Given the description of an element on the screen output the (x, y) to click on. 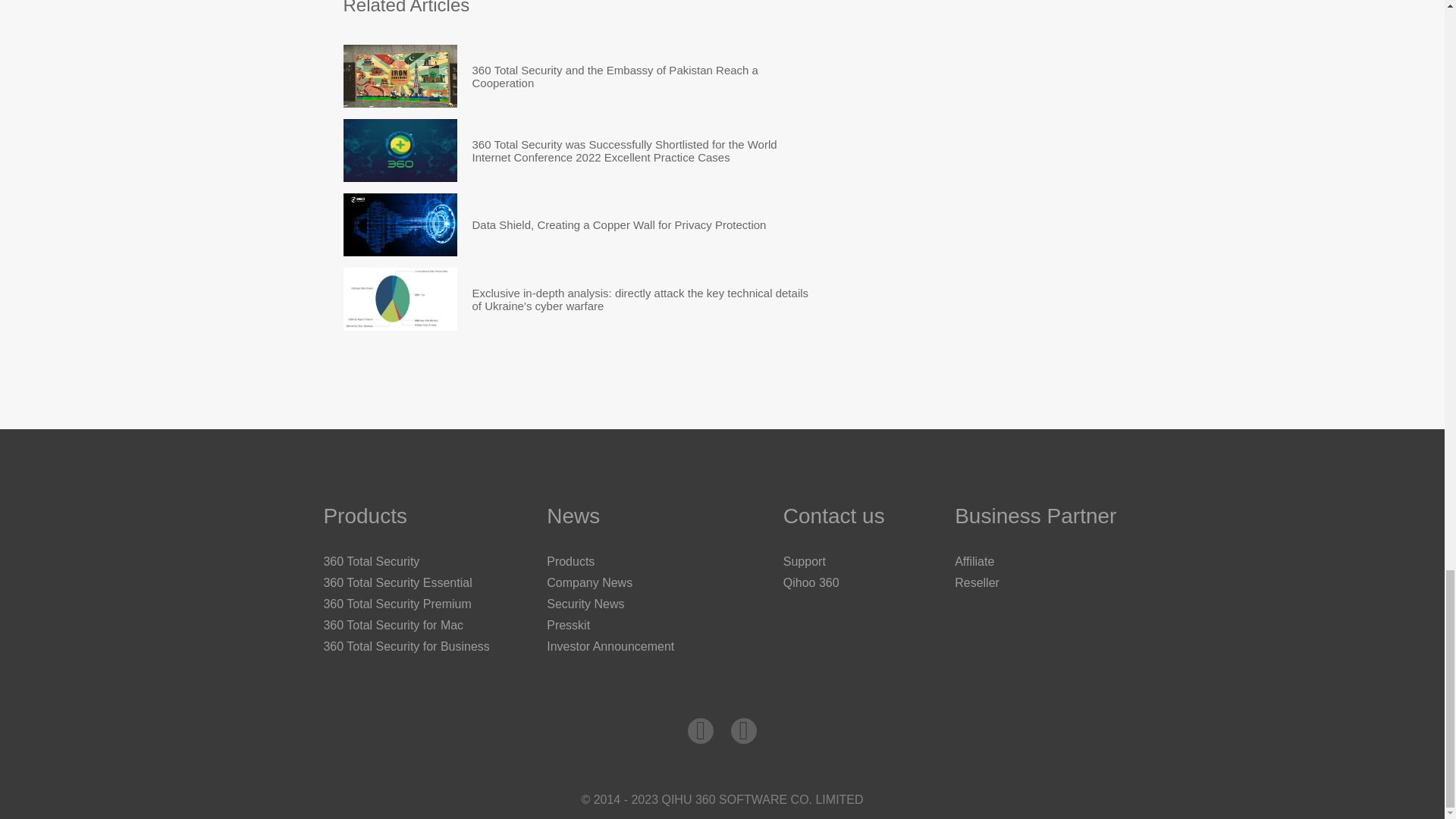
Data Shield, Creating a Copper Wall for Privacy Protection (618, 224)
360 Total Security (371, 561)
Data Shield, Creating a Copper Wall for Privacy Protection (399, 224)
Data Shield, Creating a Copper Wall for Privacy Protection (618, 224)
